Given the description of an element on the screen output the (x, y) to click on. 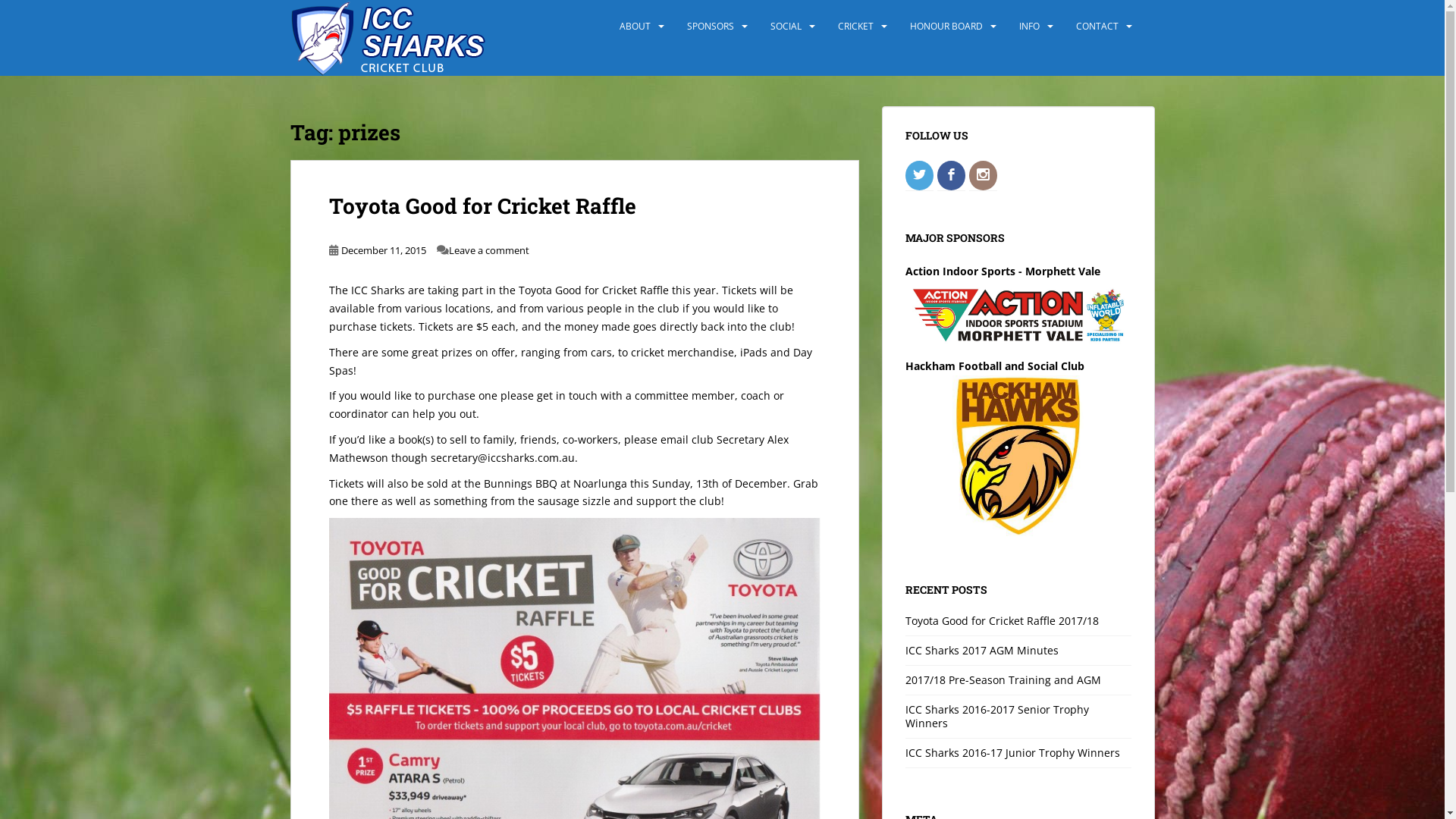
HONOUR BOARD Element type: text (946, 26)
ABOUT Element type: text (633, 26)
CONTACT Element type: text (1096, 26)
SPONSORS Element type: text (710, 26)
Leave a comment Element type: text (488, 250)
ICC Sharks 2016-17 Junior Trophy Winners Element type: text (1012, 752)
ICC Sharks 2016-2017 Senior Trophy Winners Element type: text (996, 716)
CRICKET Element type: text (854, 26)
Toyota Good for Cricket Raffle Element type: text (482, 205)
Toyota Good for Cricket Raffle 2017/18 Element type: text (1001, 620)
SOCIAL Element type: text (785, 26)
ICC Sharks 2017 AGM Minutes Element type: text (981, 650)
INFO Element type: text (1029, 26)
December 11, 2015 Element type: text (383, 250)
2017/18 Pre-Season Training and AGM Element type: text (1003, 679)
